Given the description of an element on the screen output the (x, y) to click on. 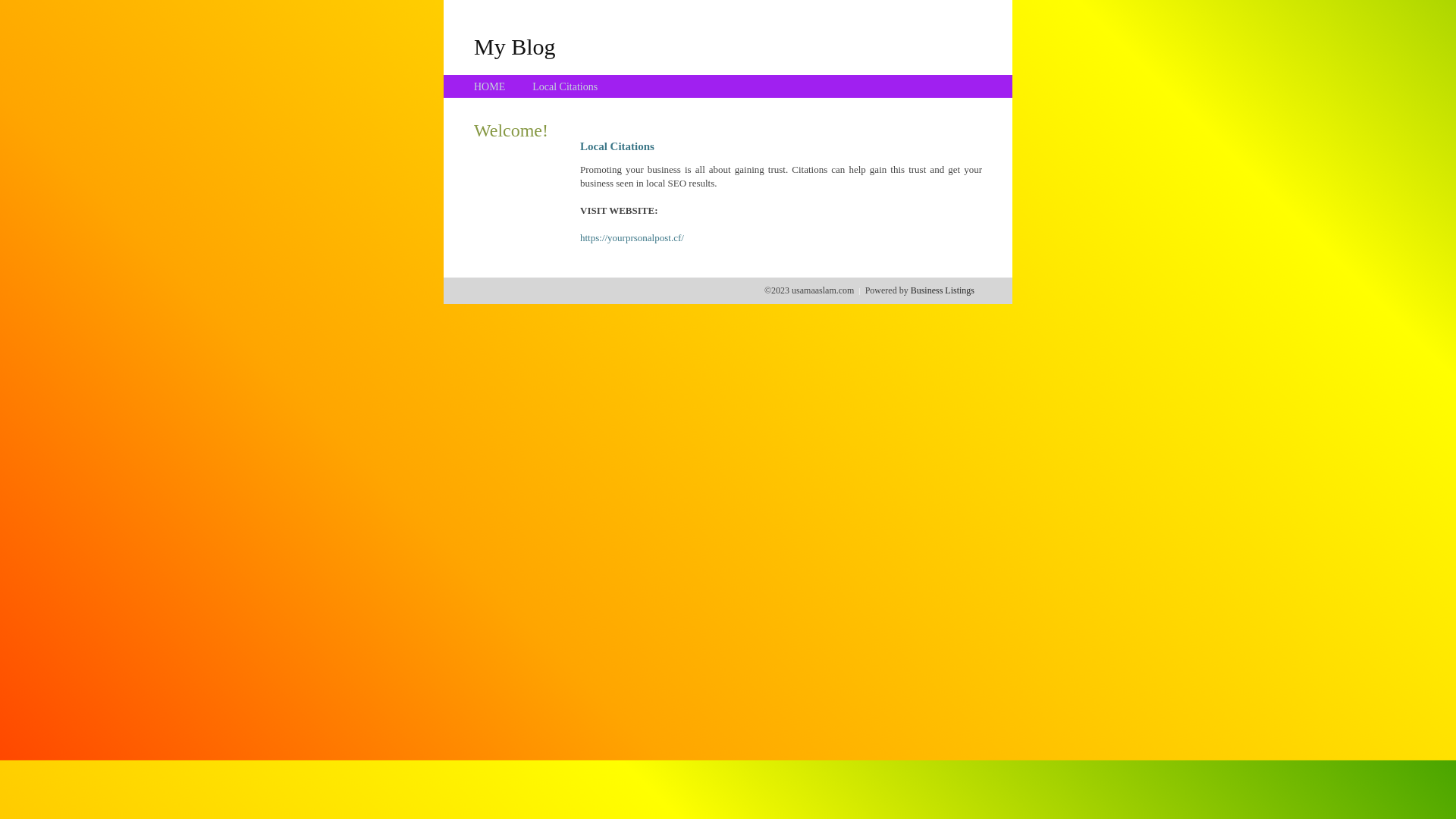
HOME Element type: text (489, 86)
My Blog Element type: text (514, 46)
https://yourprsonalpost.cf/ Element type: text (632, 237)
Business Listings Element type: text (942, 290)
Local Citations Element type: text (564, 86)
